Given the description of an element on the screen output the (x, y) to click on. 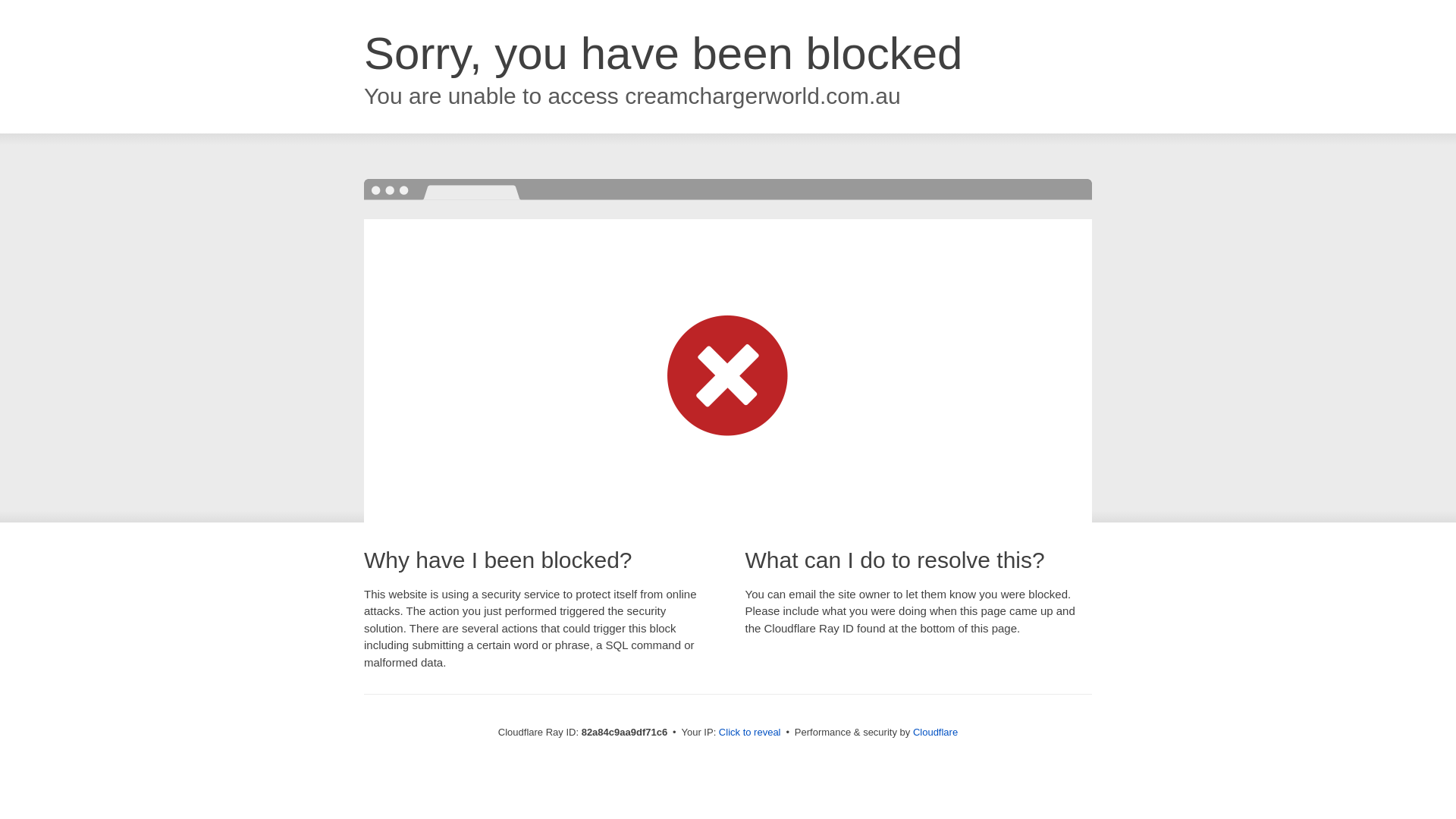
Cloudflare Element type: text (935, 731)
Click to reveal Element type: text (749, 732)
